Given the description of an element on the screen output the (x, y) to click on. 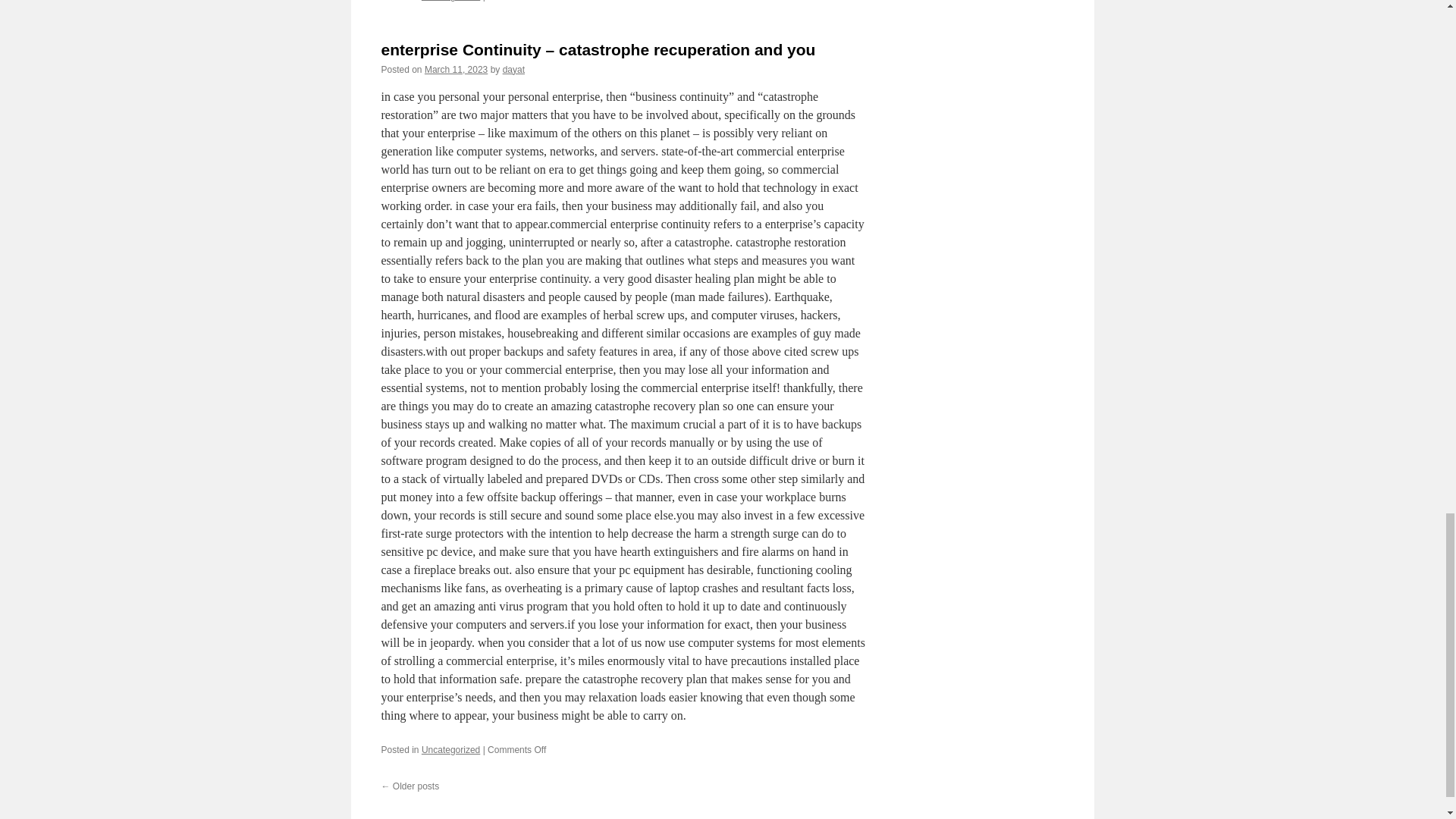
Uncategorized (451, 0)
March 11, 2023 (456, 69)
9:05 am (456, 69)
Uncategorized (451, 749)
View all posts by dayat (513, 69)
dayat (513, 69)
View all posts in Uncategorized (451, 0)
View all posts in Uncategorized (451, 749)
